Given the description of an element on the screen output the (x, y) to click on. 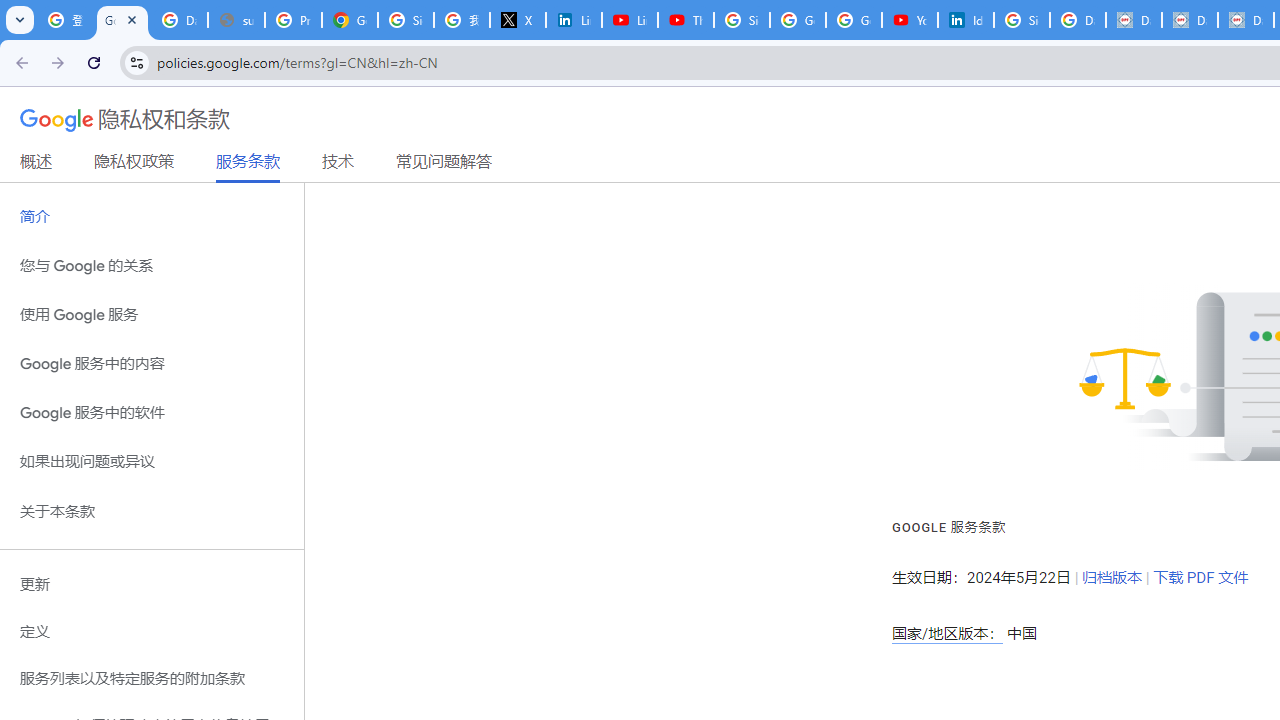
LinkedIn - YouTube (629, 20)
Sign in - Google Accounts (742, 20)
